Given the description of an element on the screen output the (x, y) to click on. 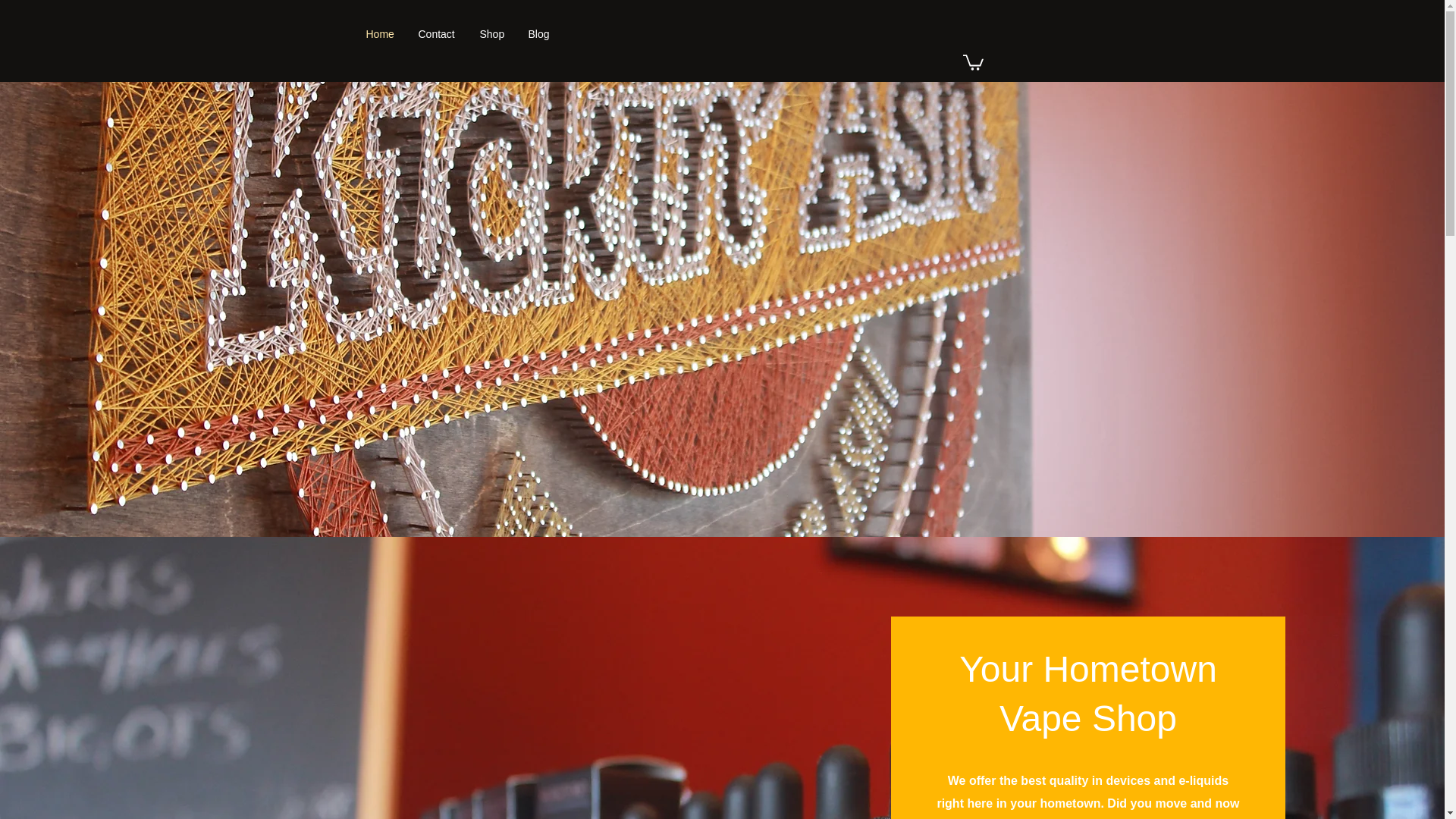
Shop (492, 33)
Home (380, 33)
Blog (539, 33)
Contact (436, 33)
